Given the description of an element on the screen output the (x, y) to click on. 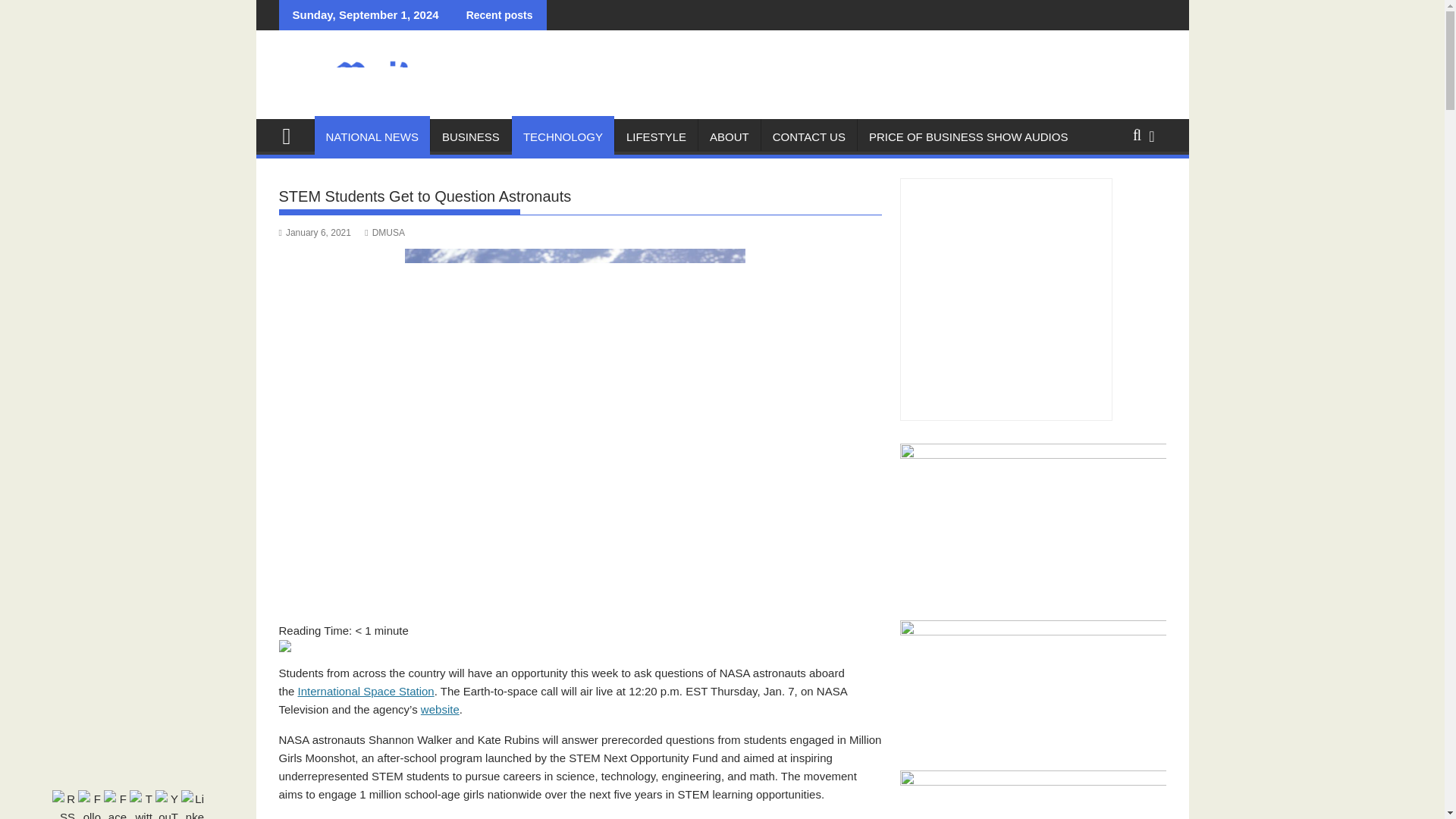
International Space Station (365, 690)
January 6, 2021 (314, 232)
website (440, 708)
BUSINESS (470, 136)
CONTACT US (809, 136)
TECHNOLOGY (563, 136)
PRICE OF BUSINESS SHOW AUDIOS (968, 136)
LIFESTYLE (655, 136)
